Given the description of an element on the screen output the (x, y) to click on. 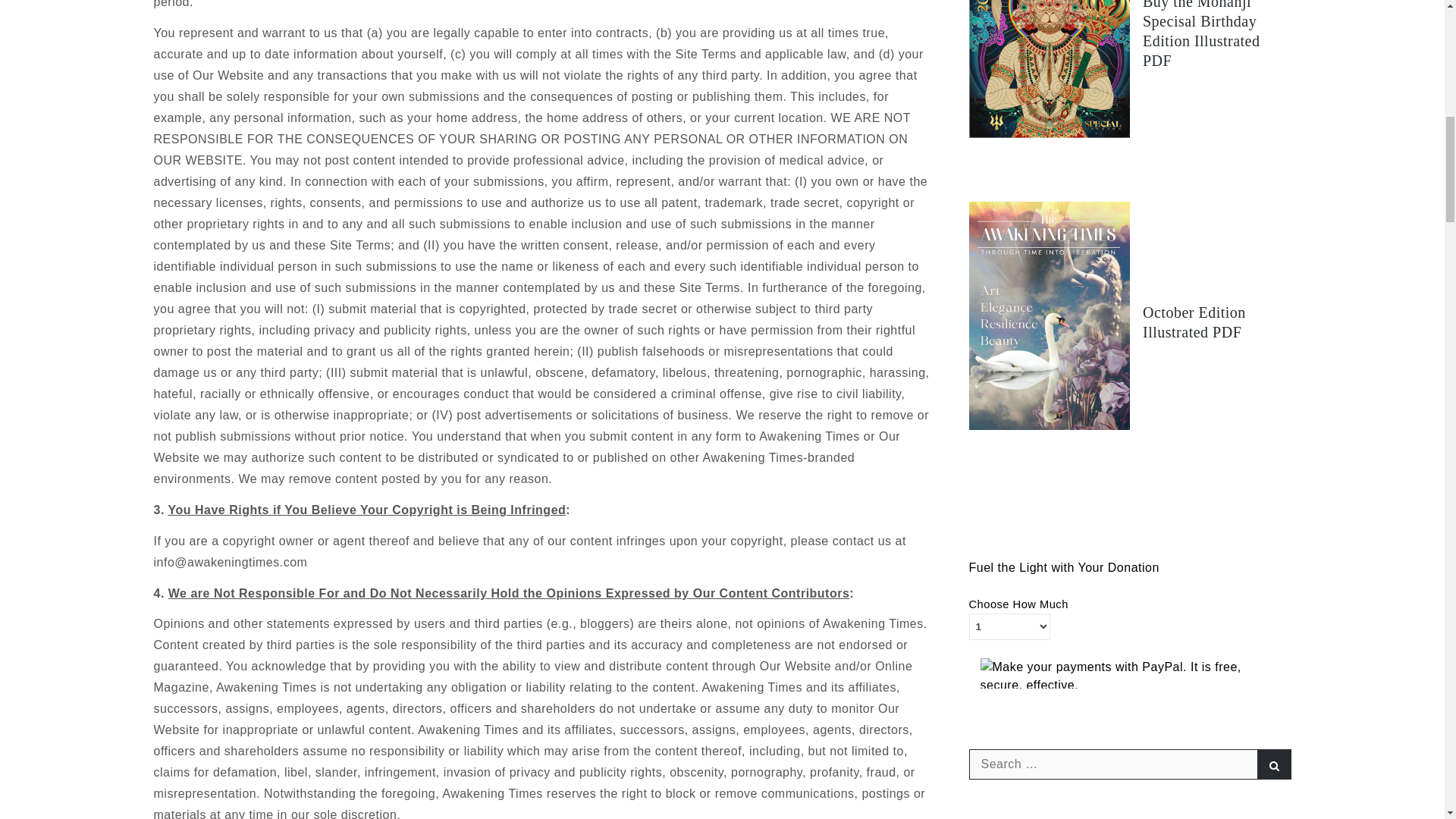
Search (1274, 764)
October Edition Illustrated PDF (1194, 321)
Buy the Mohanji Specisal Birthday Edition Illustrated PDF (1200, 34)
